Given the description of an element on the screen output the (x, y) to click on. 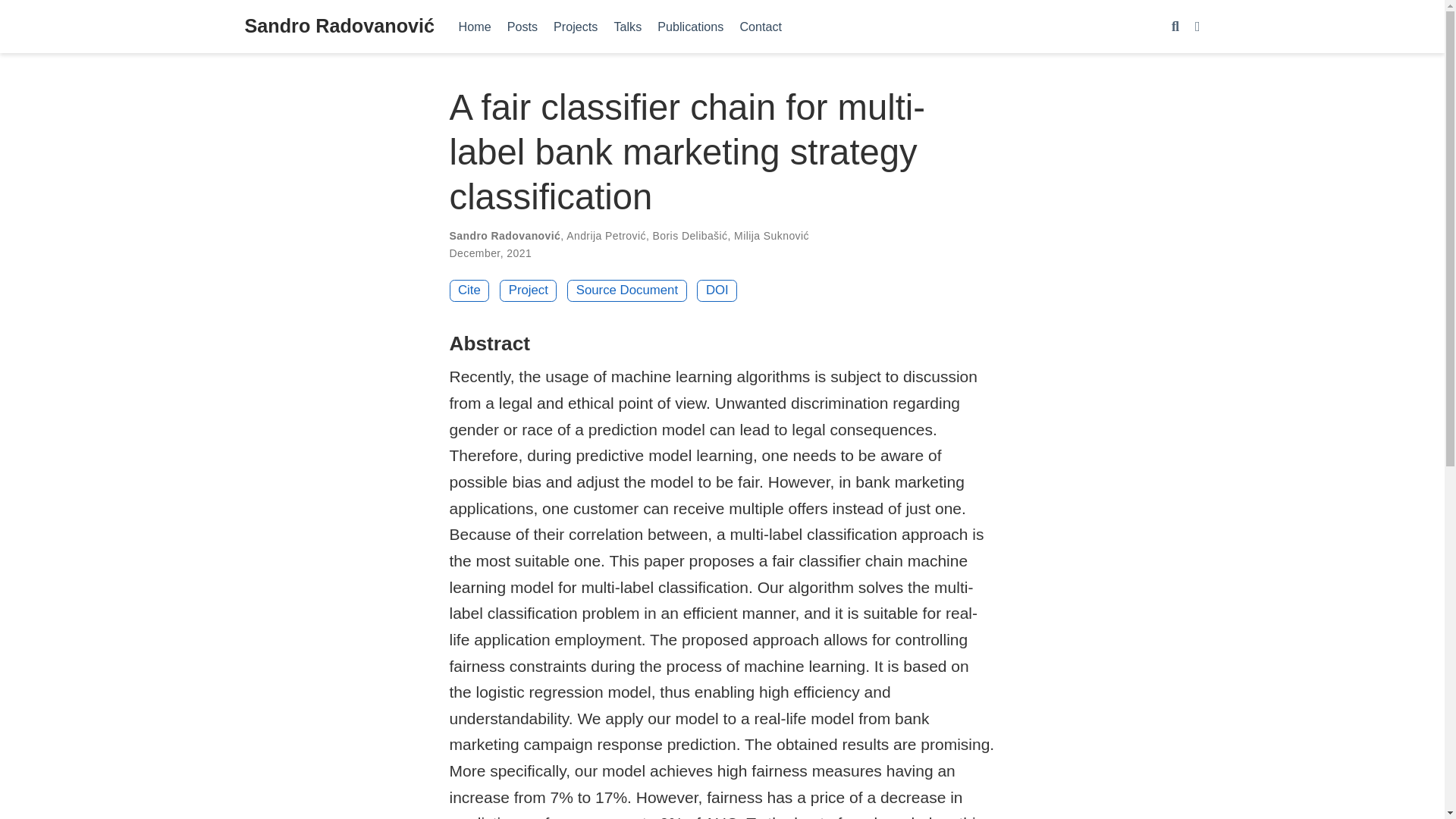
Posts (521, 25)
Home (474, 25)
Talks (627, 25)
DOI (716, 291)
Cite (468, 291)
Project (527, 291)
Projects (575, 25)
Source Document (626, 291)
Publications (690, 25)
Contact (761, 25)
